Given the description of an element on the screen output the (x, y) to click on. 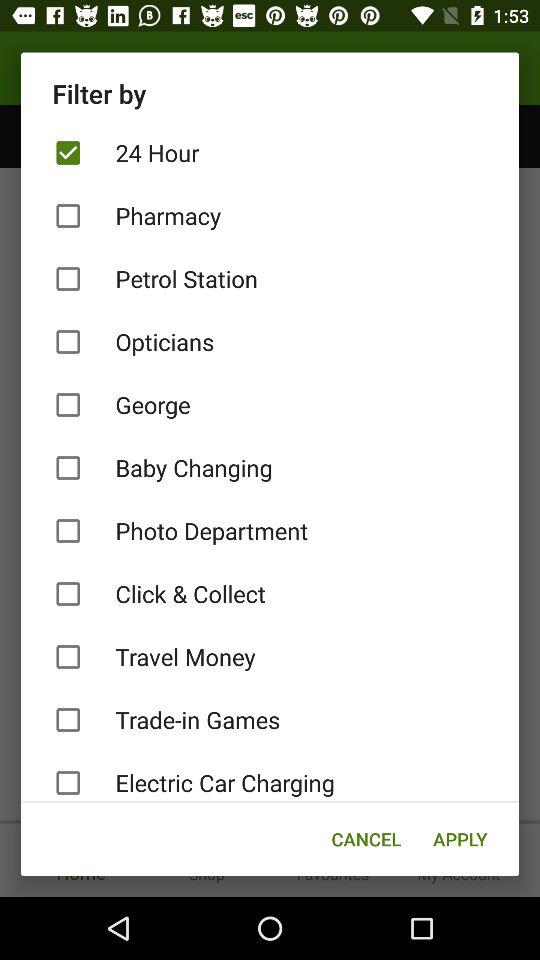
press the photo department item (270, 530)
